Given the description of an element on the screen output the (x, y) to click on. 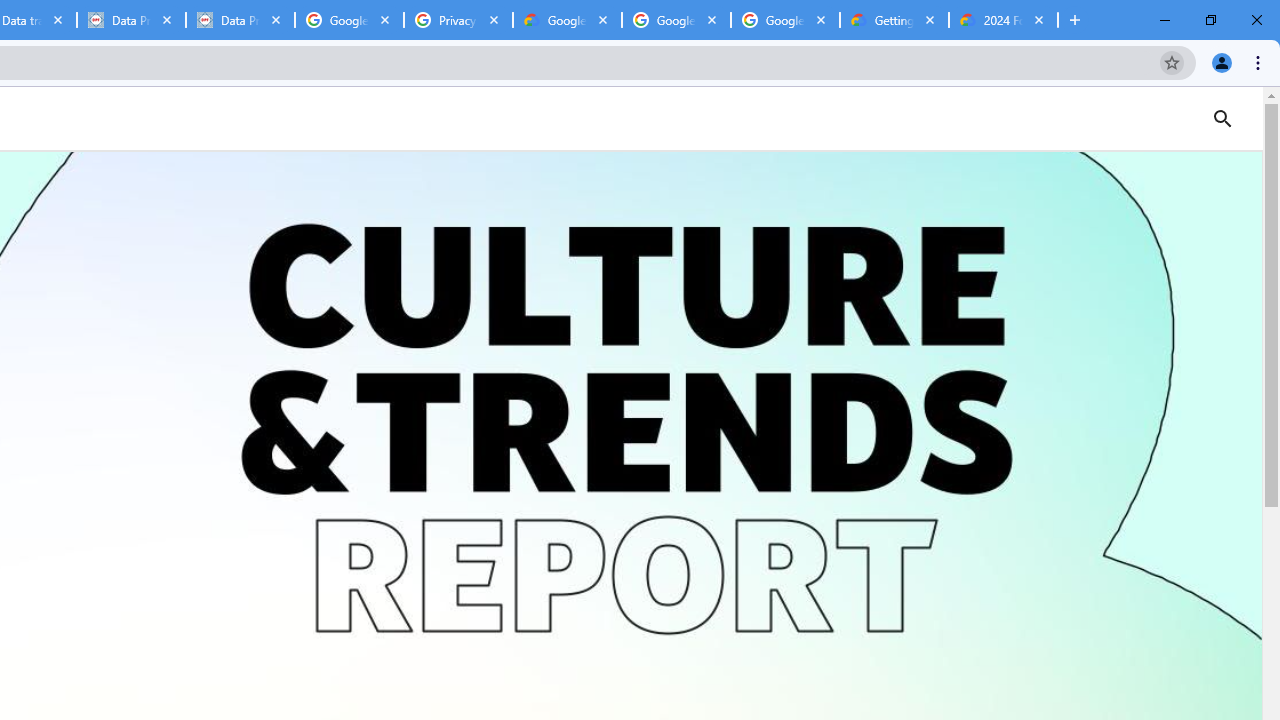
Google Cloud Terms Directory | Google Cloud (567, 20)
Data Privacy Framework (240, 20)
